Given the description of an element on the screen output the (x, y) to click on. 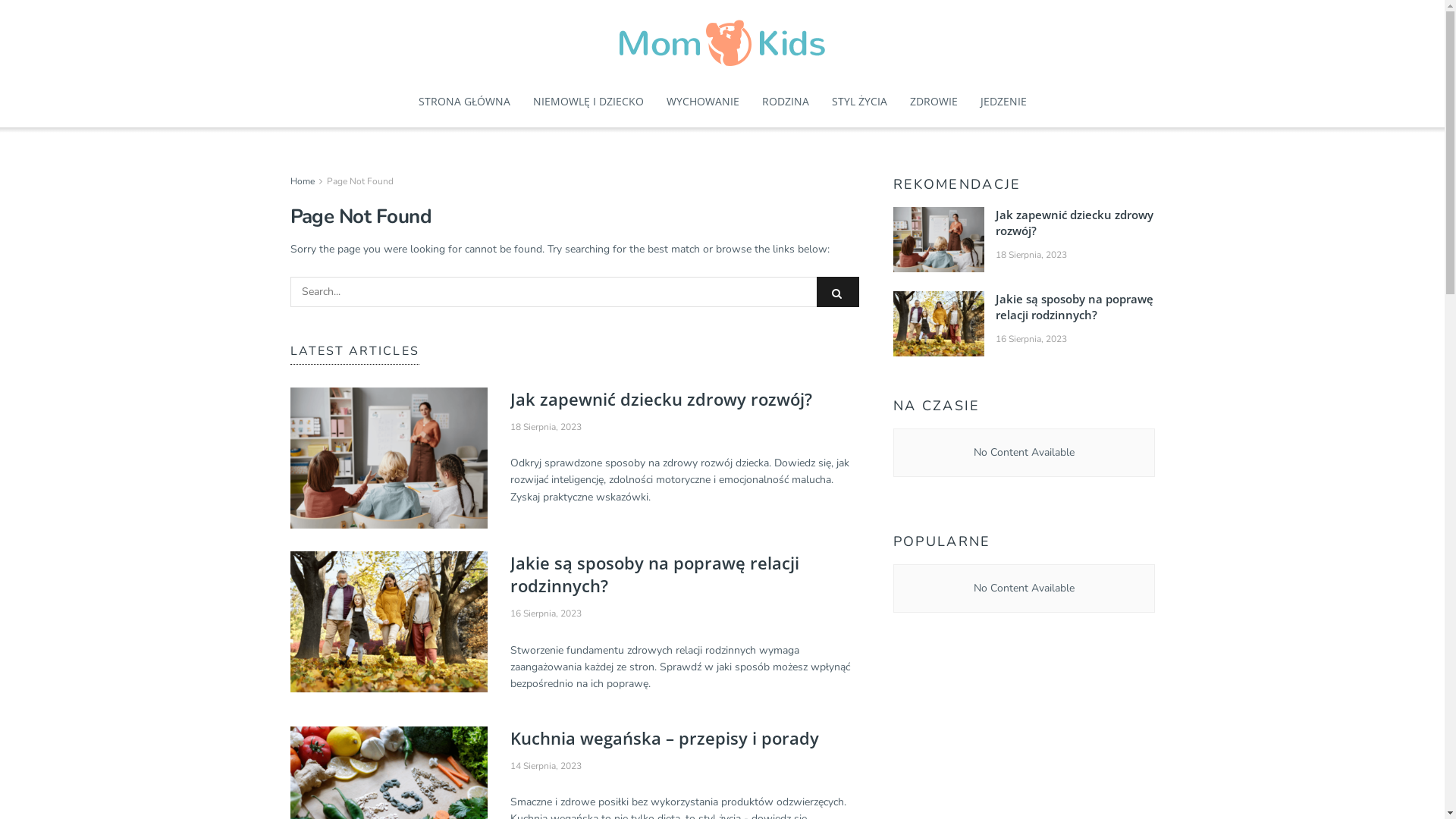
WYCHOWANIE Element type: text (701, 101)
ZDROWIE Element type: text (933, 101)
16 Sierpnia, 2023 Element type: text (544, 613)
16 Sierpnia, 2023 Element type: text (1030, 338)
18 Sierpnia, 2023 Element type: text (1030, 254)
RODZINA Element type: text (784, 101)
JEDZENIE Element type: text (1002, 101)
Page Not Found Element type: text (359, 181)
18 Sierpnia, 2023 Element type: text (544, 426)
Home Element type: text (301, 181)
14 Sierpnia, 2023 Element type: text (544, 765)
